Given the description of an element on the screen output the (x, y) to click on. 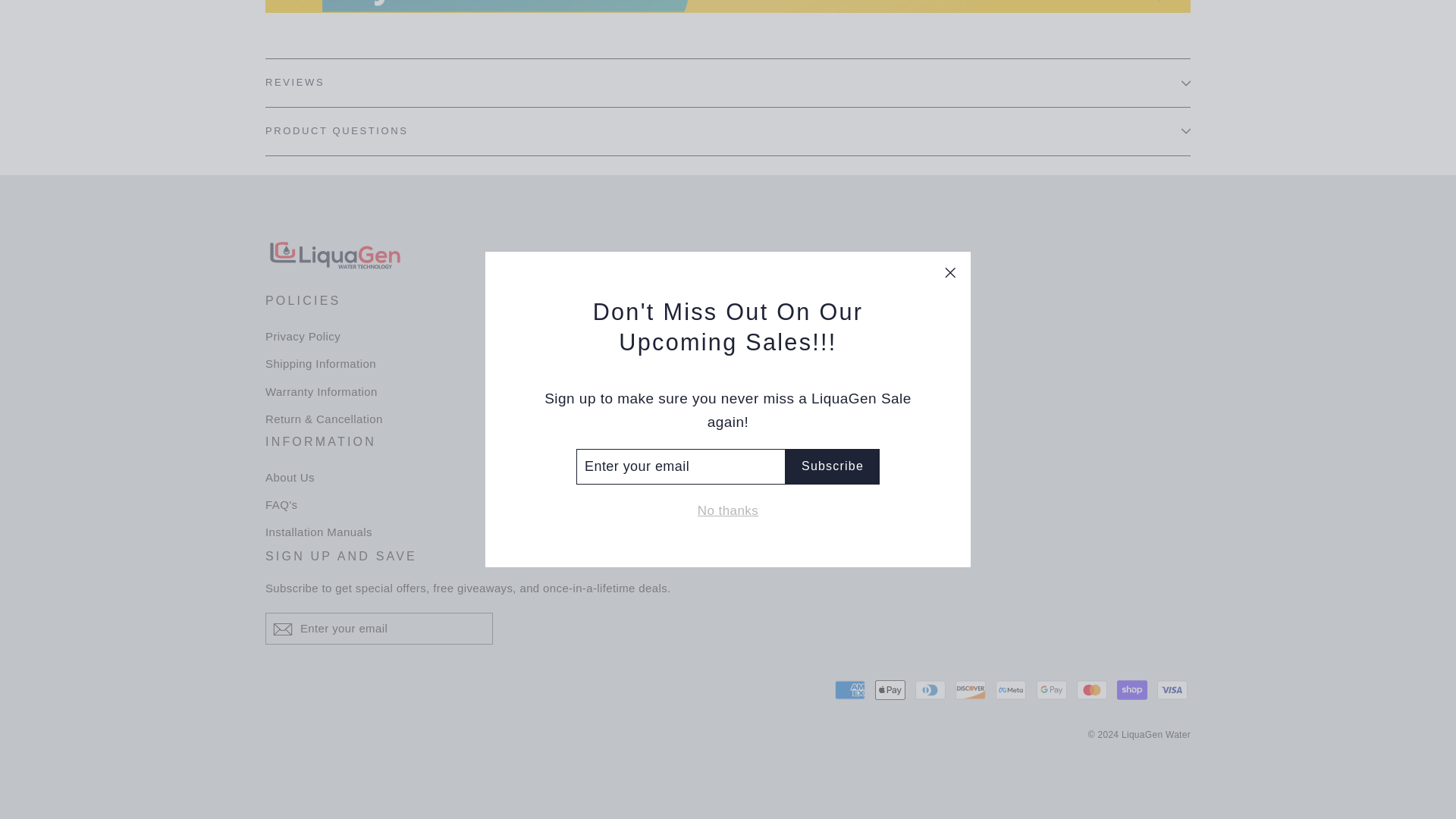
Discover (970, 689)
Google Pay (1051, 689)
American Express (849, 689)
Meta Pay (1010, 689)
Diners Club (929, 689)
Apple Pay (890, 689)
